Given the description of an element on the screen output the (x, y) to click on. 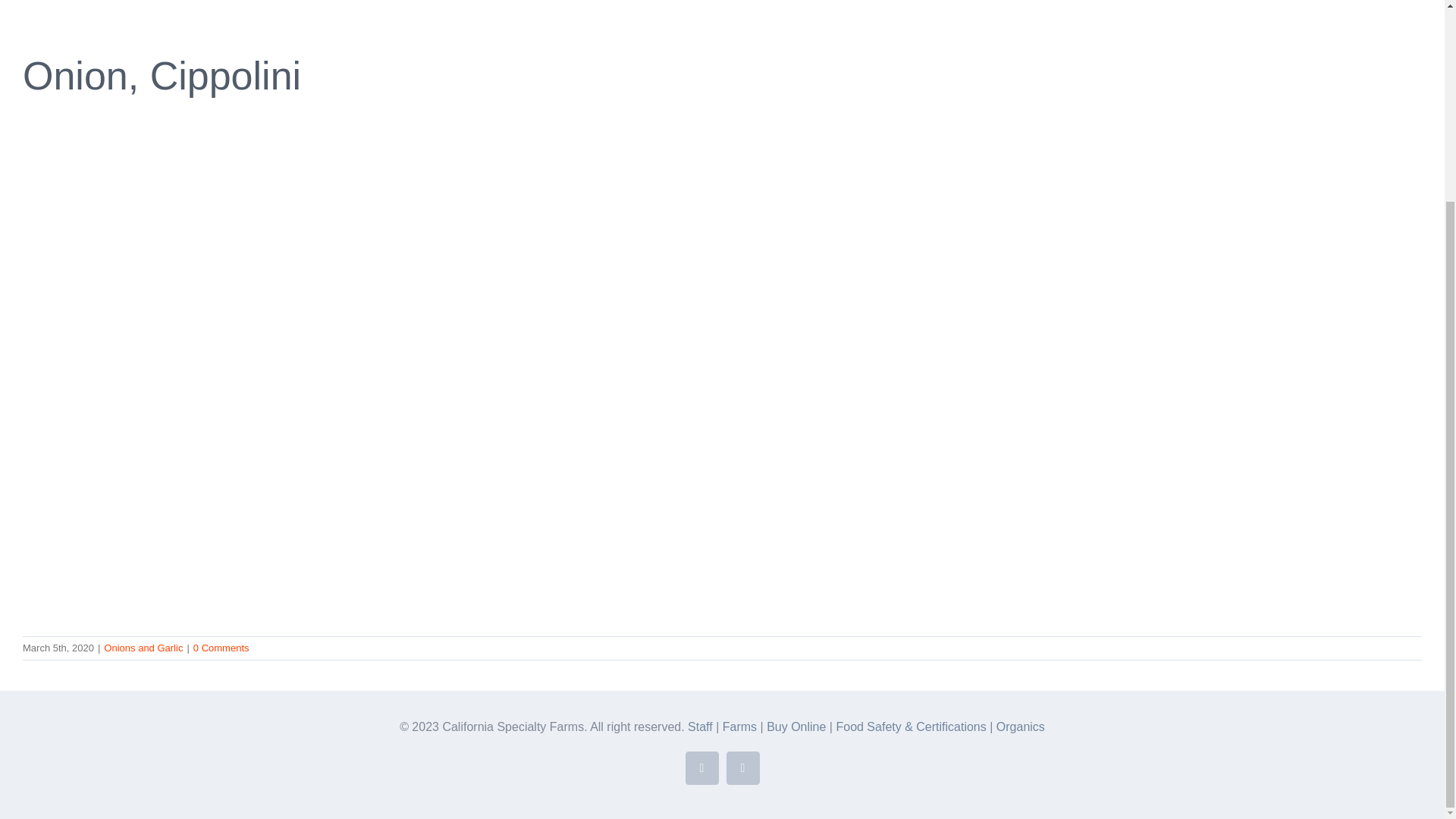
Organics (1020, 726)
Onions and Garlic (143, 647)
Buy Online (798, 726)
Facebook (702, 767)
Instagram (743, 767)
Farms (739, 726)
Facebook (702, 767)
0 Comments (220, 647)
Staff (700, 726)
